Given the description of an element on the screen output the (x, y) to click on. 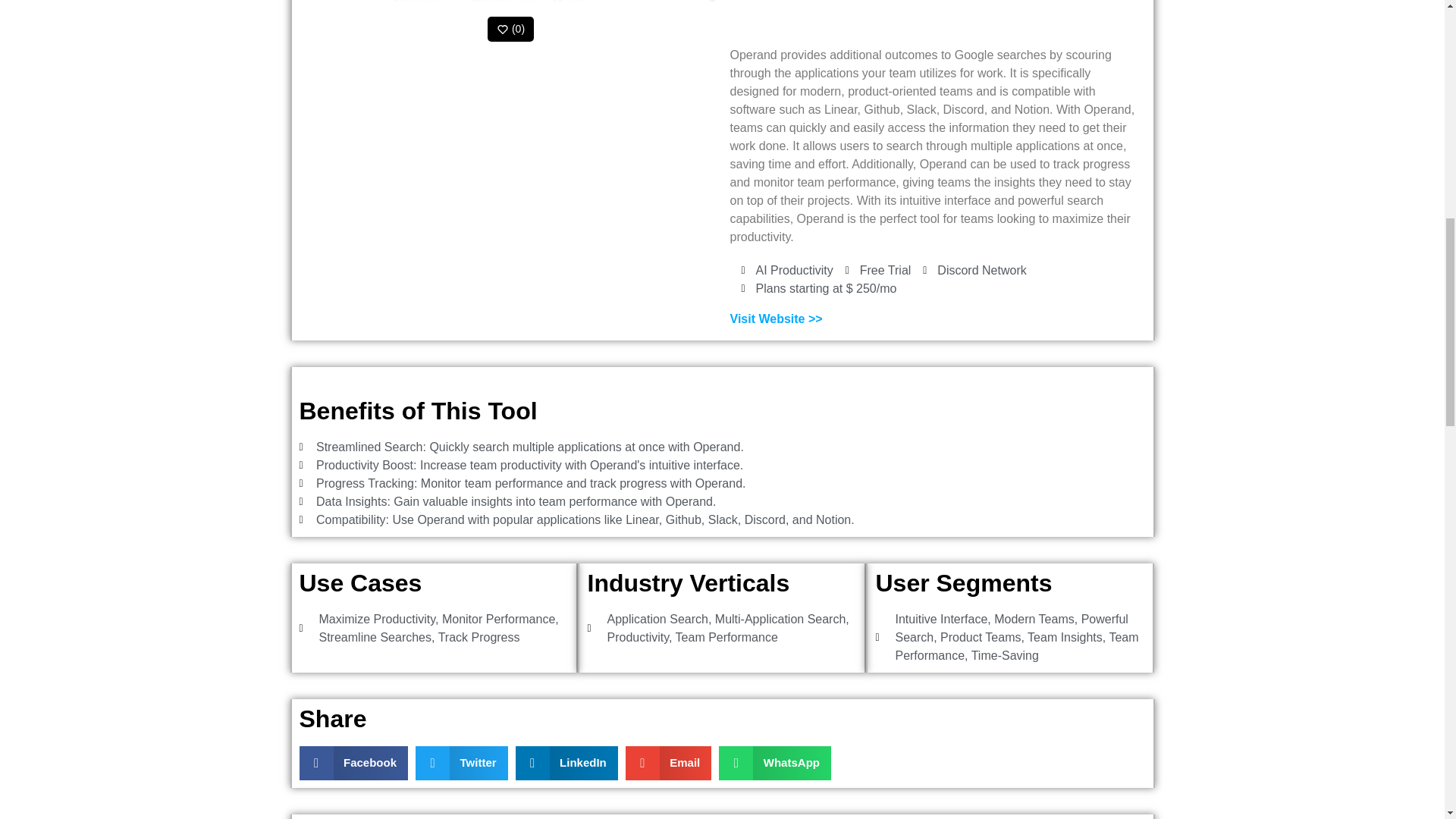
AI Productivity (793, 269)
Time-Saving (1005, 655)
Team Insights (1064, 636)
Team Performance (1016, 645)
Application Search (657, 618)
Multi-Application Search (779, 618)
Advertisement (933, 15)
Maximize Productivity (376, 618)
Monitor Performance (498, 618)
Track Progress (478, 636)
Powerful Search (1010, 627)
Team Performance (726, 636)
Productivity (637, 636)
Streamline Searches (374, 636)
Product Teams (980, 636)
